Given the description of an element on the screen output the (x, y) to click on. 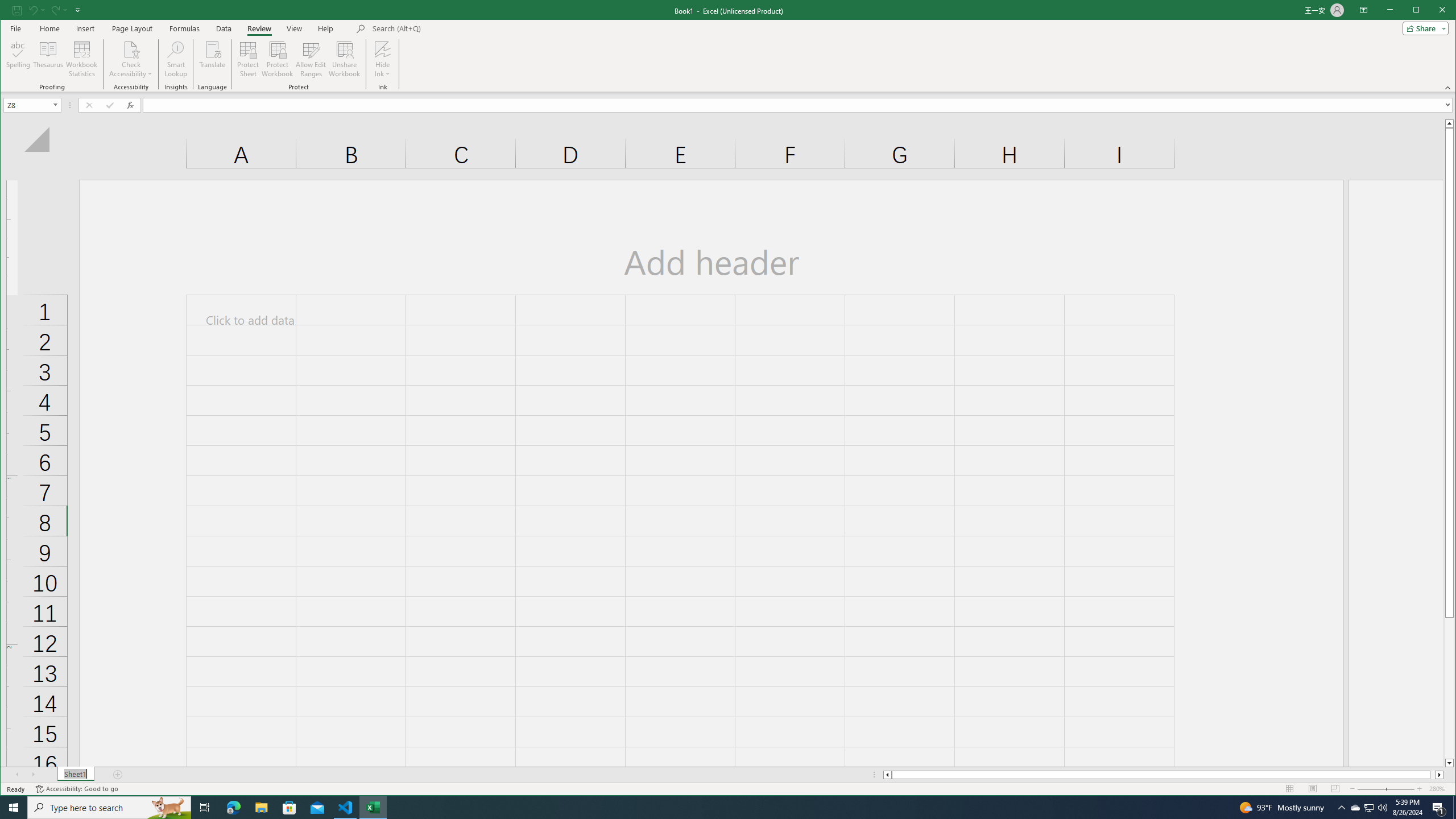
Microsoft Edge (233, 807)
Translate (212, 59)
Microsoft Store (289, 807)
Smart Lookup (176, 59)
